Given the description of an element on the screen output the (x, y) to click on. 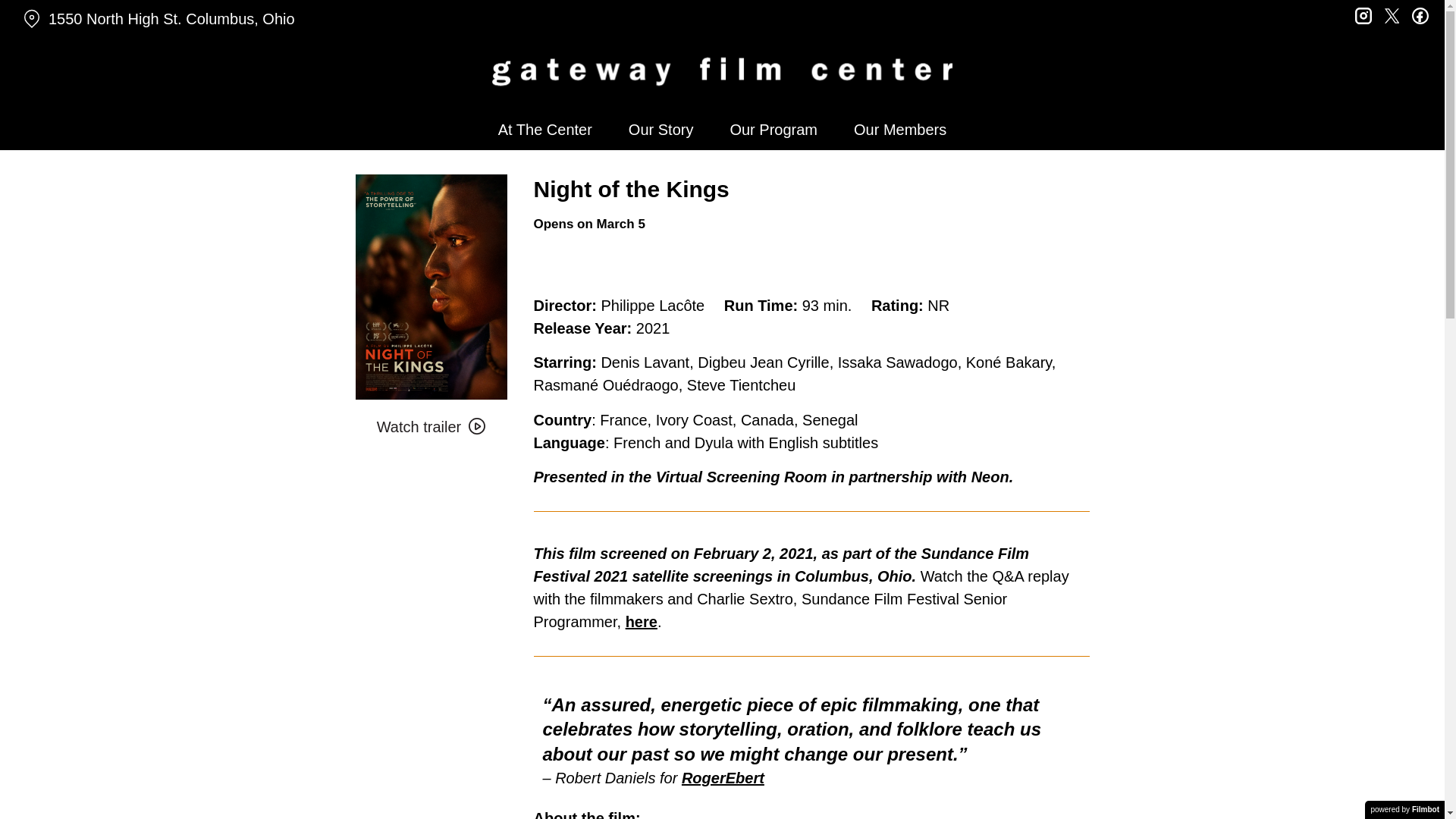
1550 North High St. Columbus, Ohio (250, 18)
Our Members (899, 128)
here (642, 621)
facebook (1420, 13)
At The Center (545, 128)
Our Program (773, 128)
instagram (1363, 13)
twitter (1391, 13)
Our Story (660, 128)
Watch from home (609, 267)
Watch trailer (430, 426)
RogerEbert (722, 777)
